Given the description of an element on the screen output the (x, y) to click on. 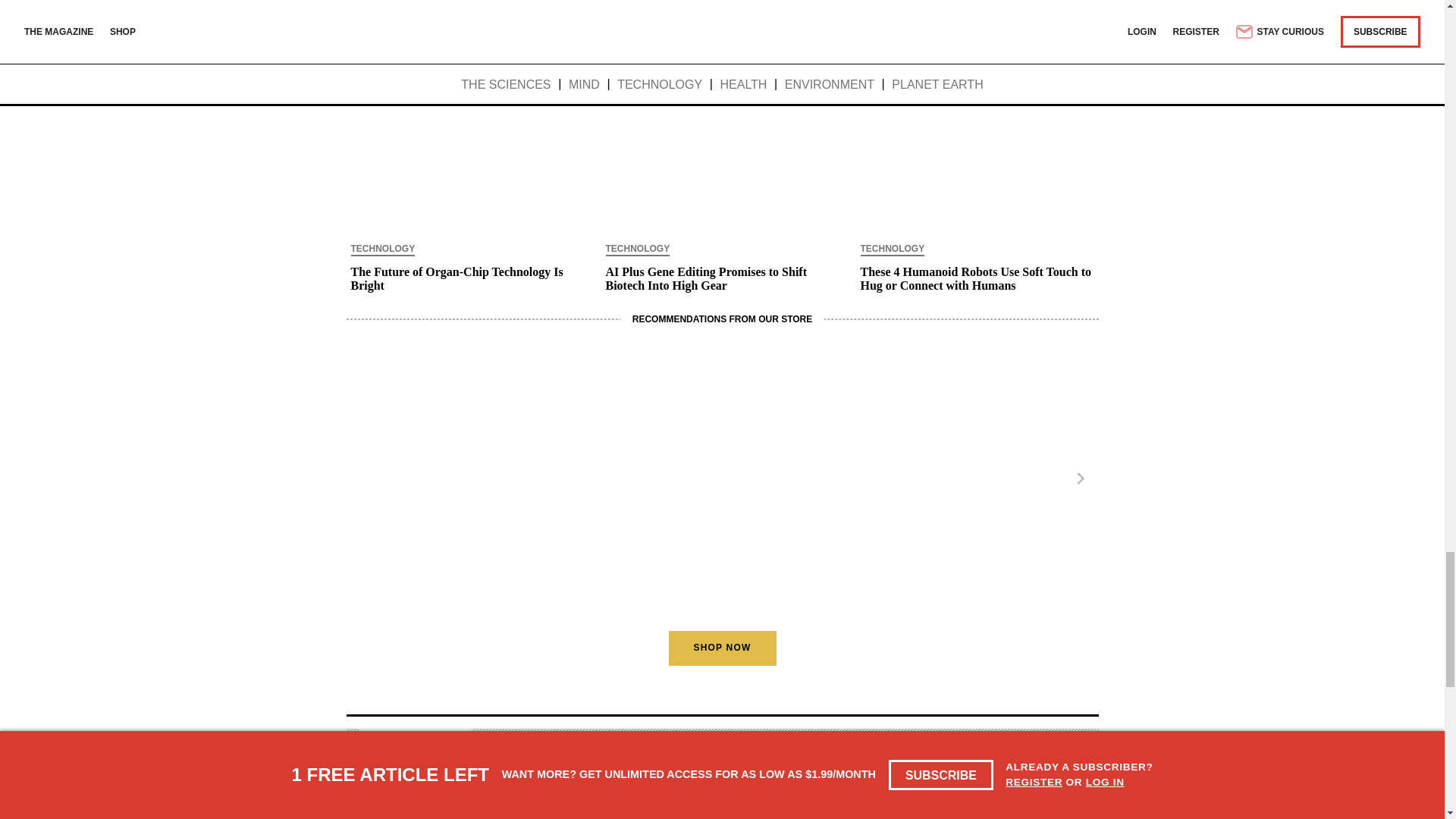
TECHNOLOGY (382, 250)
TECHNOLOGY (637, 250)
TECHNOLOGY (892, 250)
The Future of Organ-Chip Technology Is Bright (466, 279)
